Given the description of an element on the screen output the (x, y) to click on. 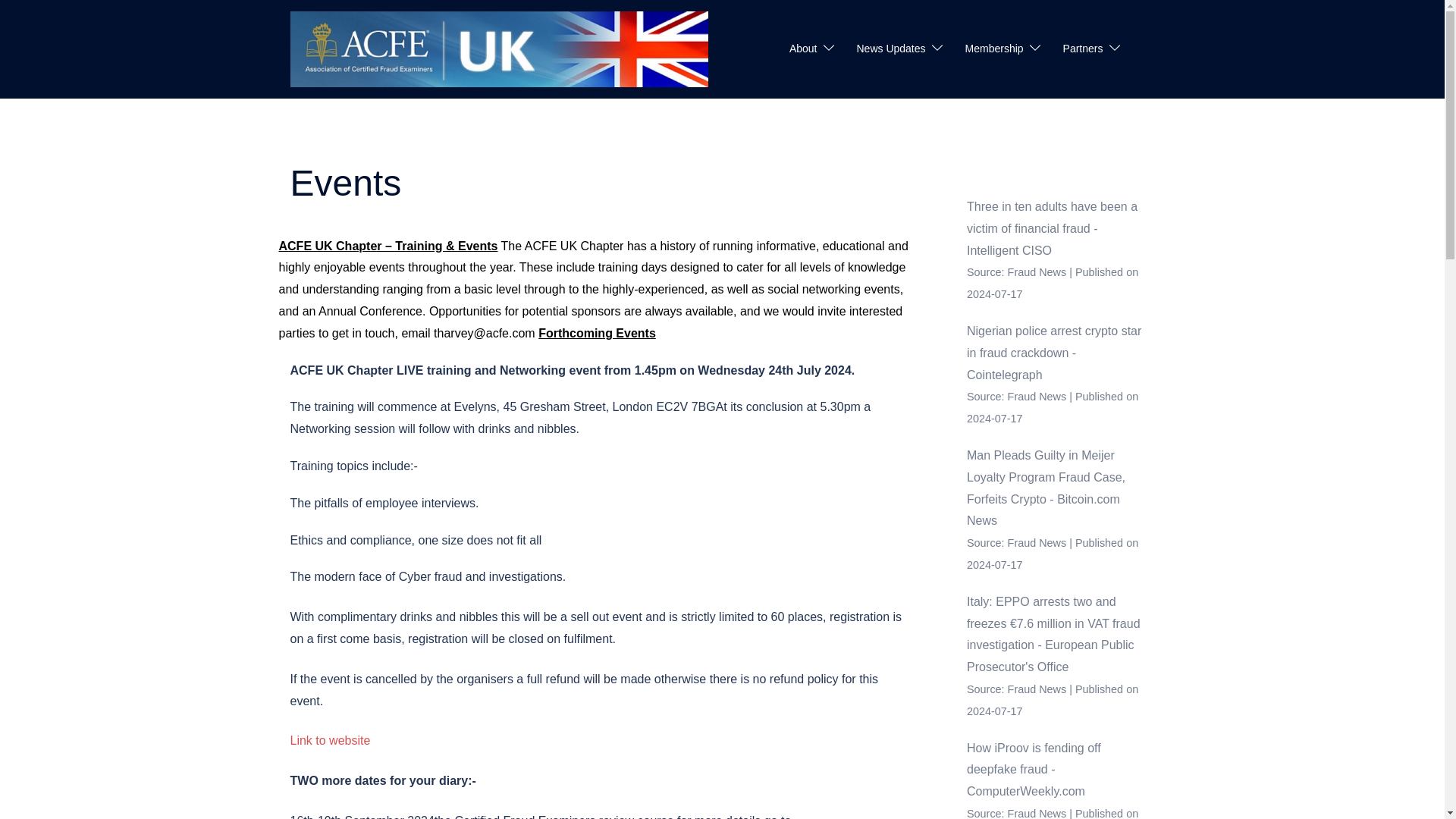
News Updates (891, 48)
Membership (994, 48)
Link to website (329, 739)
ACFE UK Chapter (498, 47)
Partners (1082, 48)
About (802, 48)
